Given the description of an element on the screen output the (x, y) to click on. 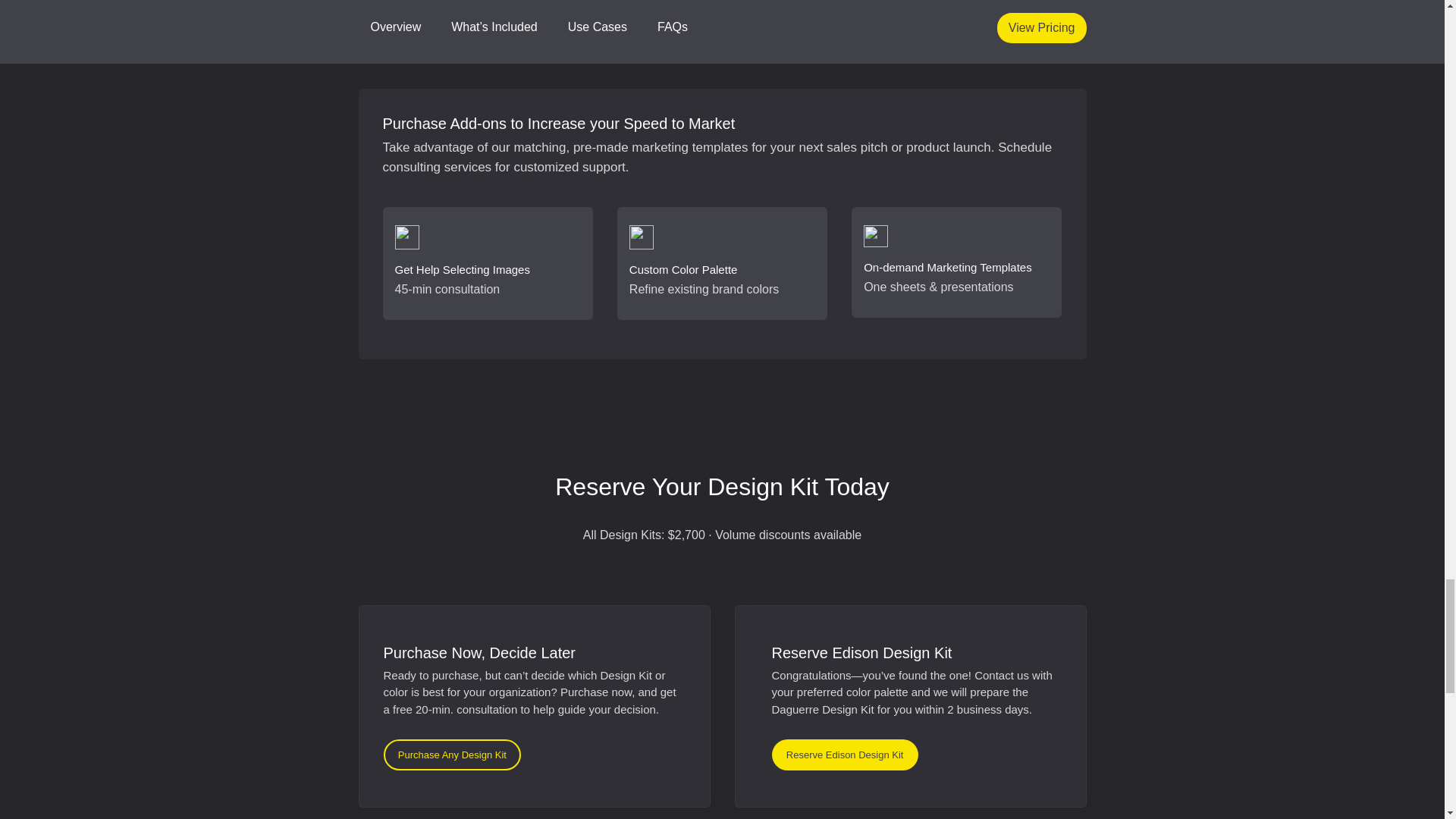
View Details (919, 17)
Reserve Edison Design Kit (844, 754)
Purchase Any Design Kit (452, 754)
